Given the description of an element on the screen output the (x, y) to click on. 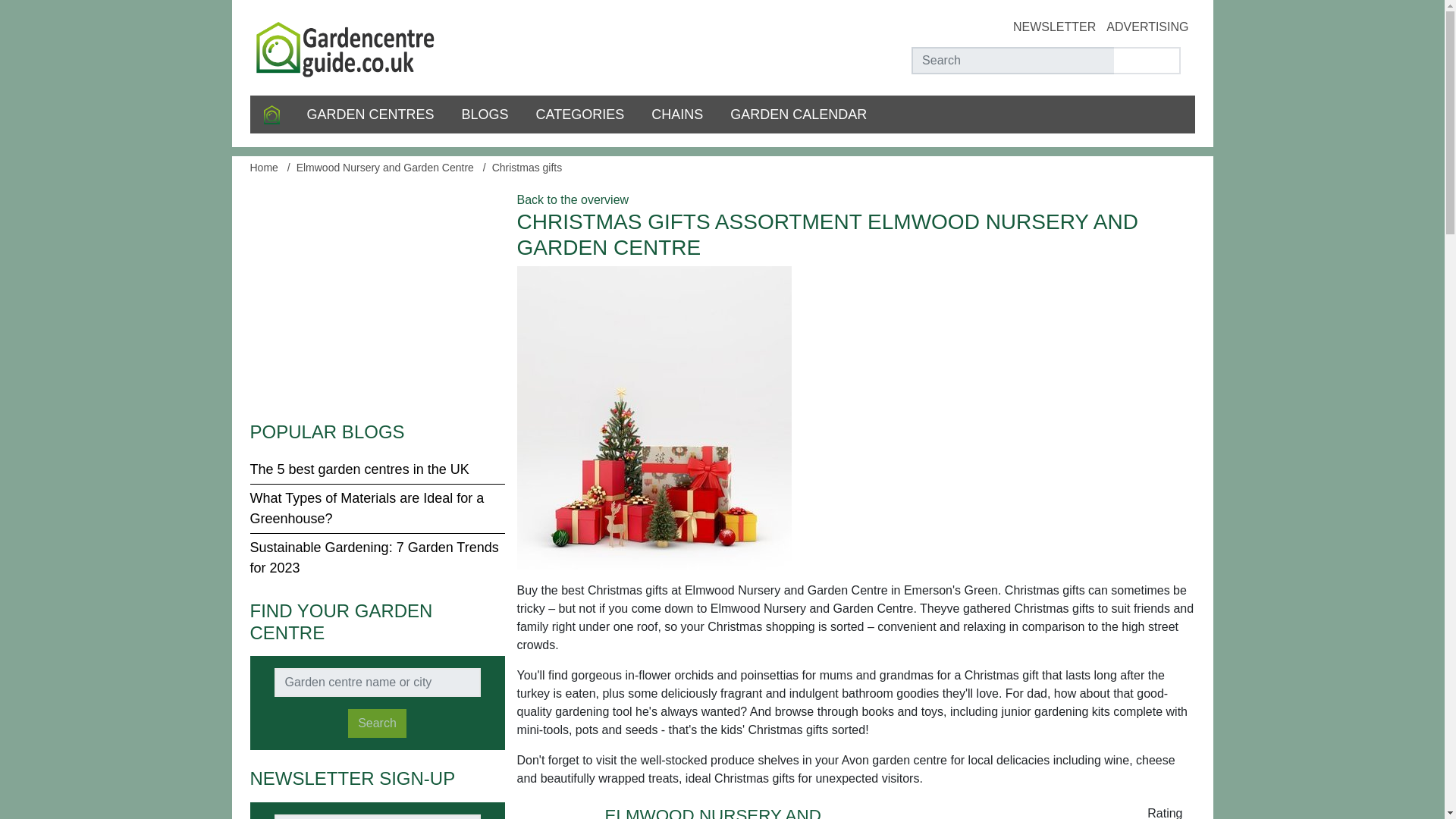
Garden Centre Guide (347, 46)
Garden centres (369, 114)
ADVERTISING (1147, 27)
NEWSLETTER (1054, 27)
Categories (580, 114)
Home (264, 167)
CATEGORIES (580, 114)
Garden calendar (798, 114)
Blogs (485, 114)
Chains (676, 114)
BLOGS (485, 114)
Elmwood Nursery and Garden Centre (385, 167)
What Types of Materials are Ideal for a Greenhouse? (367, 508)
Home (272, 114)
CHAINS (676, 114)
